Given the description of an element on the screen output the (x, y) to click on. 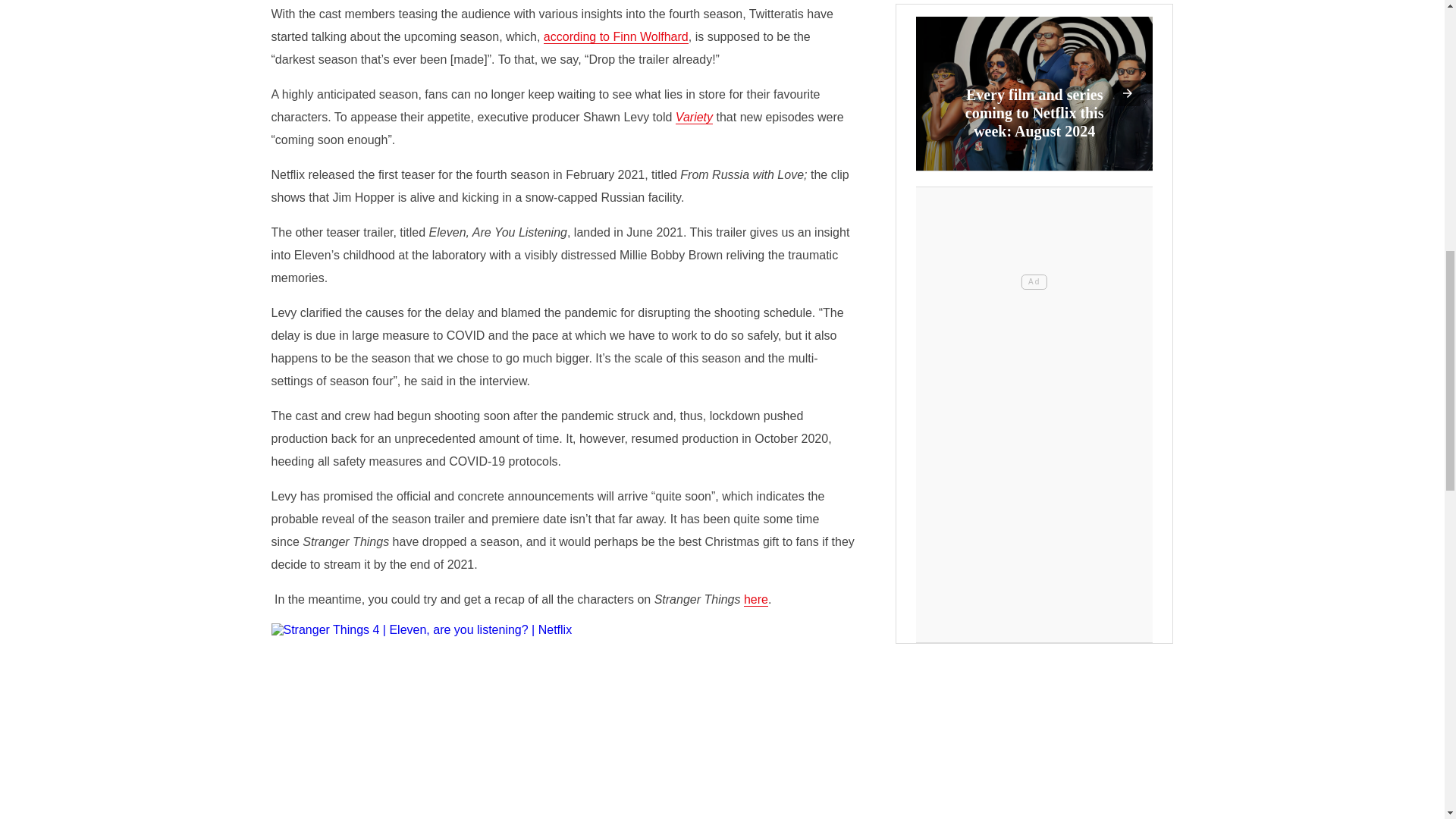
Variety (694, 117)
according to Finn Wolfhard (615, 37)
here (756, 599)
